Given the description of an element on the screen output the (x, y) to click on. 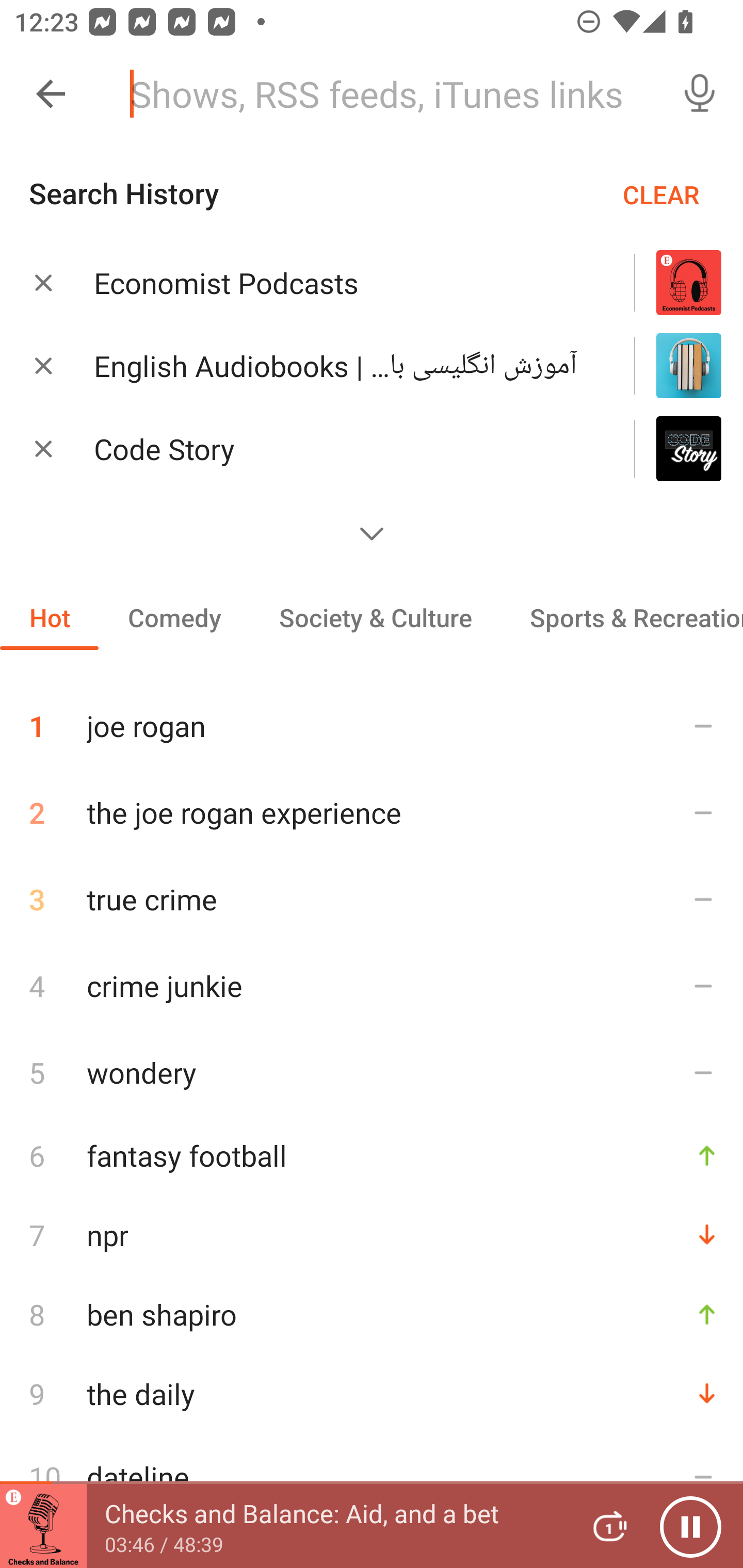
Collapse (50, 93)
Voice Search (699, 93)
Shows, RSS feeds, iTunes links (385, 94)
CLEAR (660, 194)
Economist Podcasts (338, 282)
 Clear (43, 282)
 Clear (43, 365)
Code Story (338, 448)
 Clear (43, 448)
 (371, 533)
Hot (49, 616)
Comedy (173, 616)
Society & Culture (374, 616)
Sports & Recreation (621, 616)
1 joe rogan (371, 717)
2 the joe rogan experience (371, 812)
3 true crime (371, 899)
4 crime junkie (371, 985)
5 wondery (371, 1072)
6 fantasy football (371, 1155)
7 npr (371, 1234)
8 ben shapiro (371, 1313)
9 the daily (371, 1393)
Checks and Balance: Aid, and a bet 03:44 / 48:39 (283, 1525)
Pause (690, 1526)
